Given the description of an element on the screen output the (x, y) to click on. 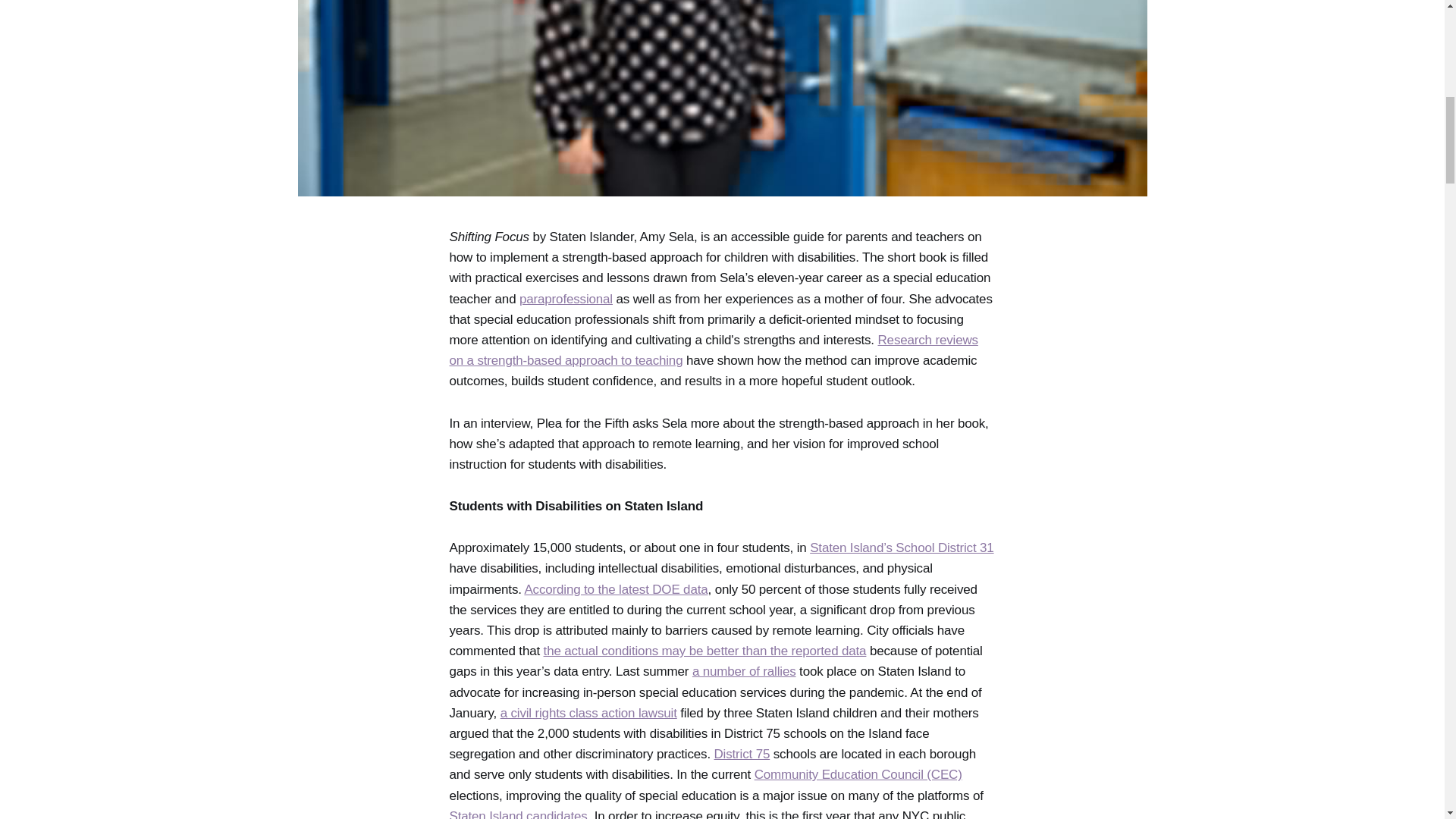
Research reviews on a strength-based approach to teaching (712, 349)
According to the latest DOE data (615, 589)
paraprofessional (565, 298)
the actual conditions may be better than the reported data (704, 650)
District 75 (742, 753)
a number of rallies (744, 671)
a civil rights class action lawsuit (588, 712)
Staten Island candidates (517, 814)
